Given the description of an element on the screen output the (x, y) to click on. 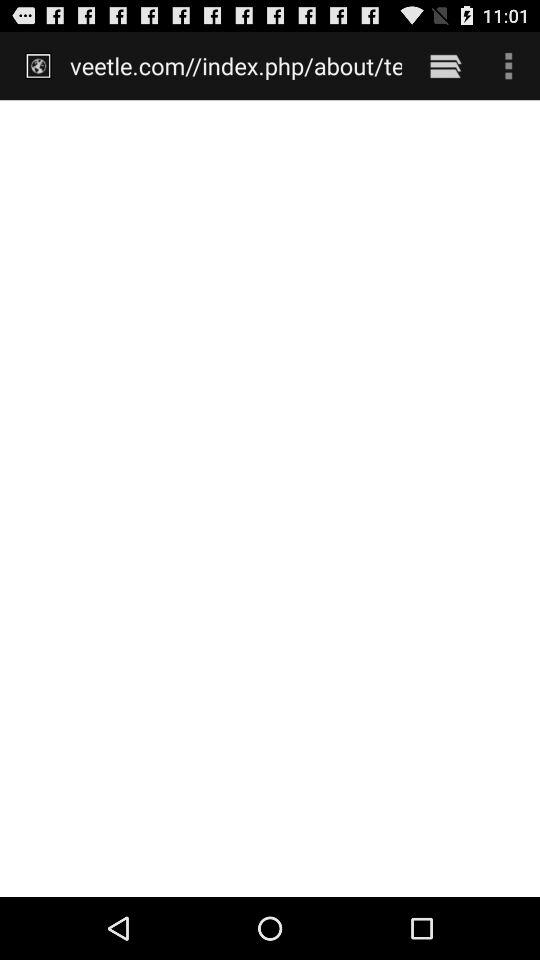
turn off item at the center (270, 497)
